Given the description of an element on the screen output the (x, y) to click on. 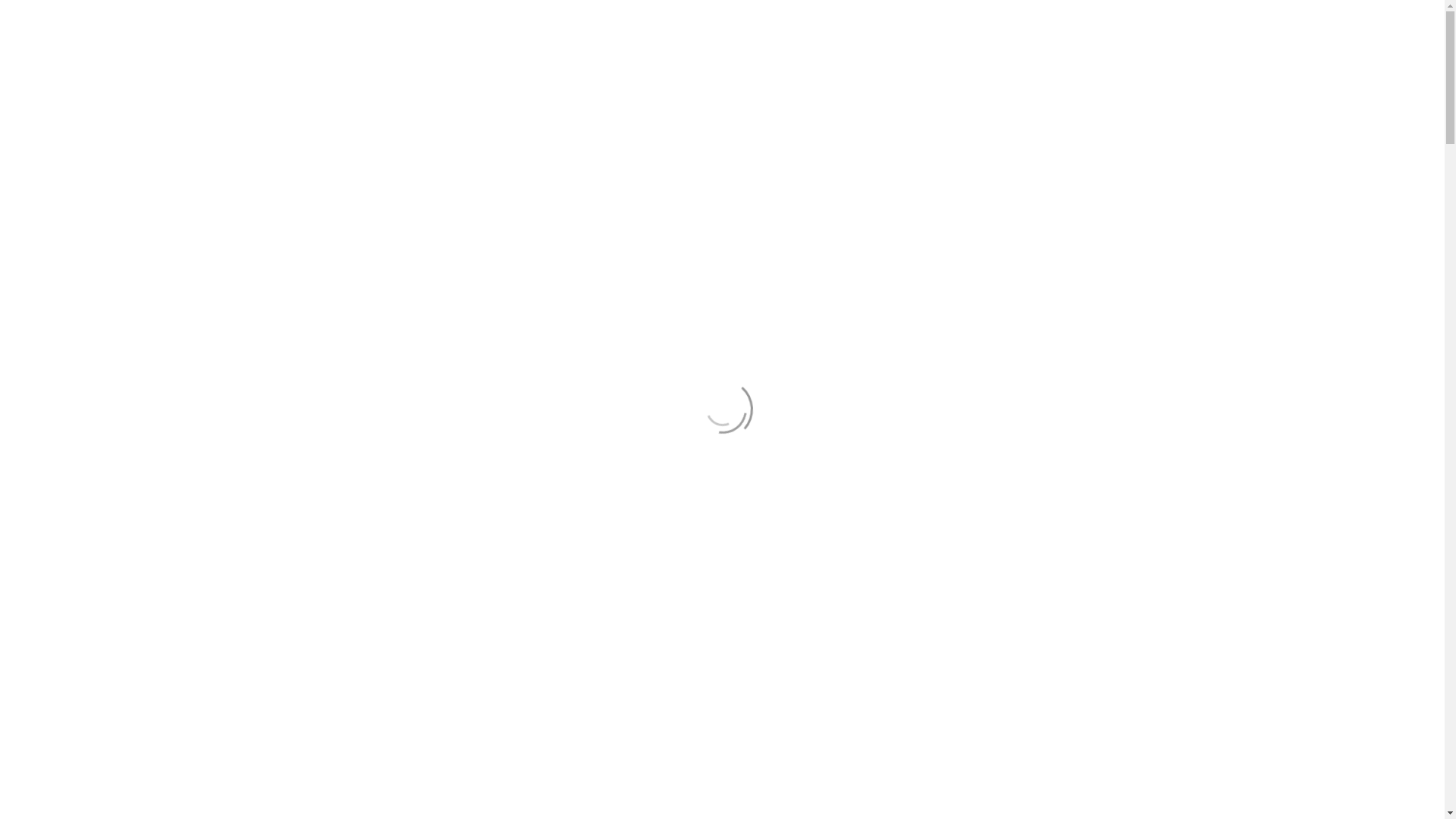
Product Element type: text (690, 68)
+61 7 3356 3631 Element type: text (904, 12)
CONTACT US Element type: text (1097, 69)
Library Sectors Element type: text (604, 68)
About Us Element type: text (760, 68)
DOWNLOAD BROCHURE Element type: text (942, 292)
Libero Library Management System Element type: text (531, 68)
Blog Element type: text (938, 68)
Libero TV Element type: text (1001, 68)
Customer Login Element type: text (1113, 12)
Contact Us Element type: text (818, 12)
Customer Stories Element type: text (855, 68)
BOOK A DEMO Element type: text (941, 223)
